Given the description of an element on the screen output the (x, y) to click on. 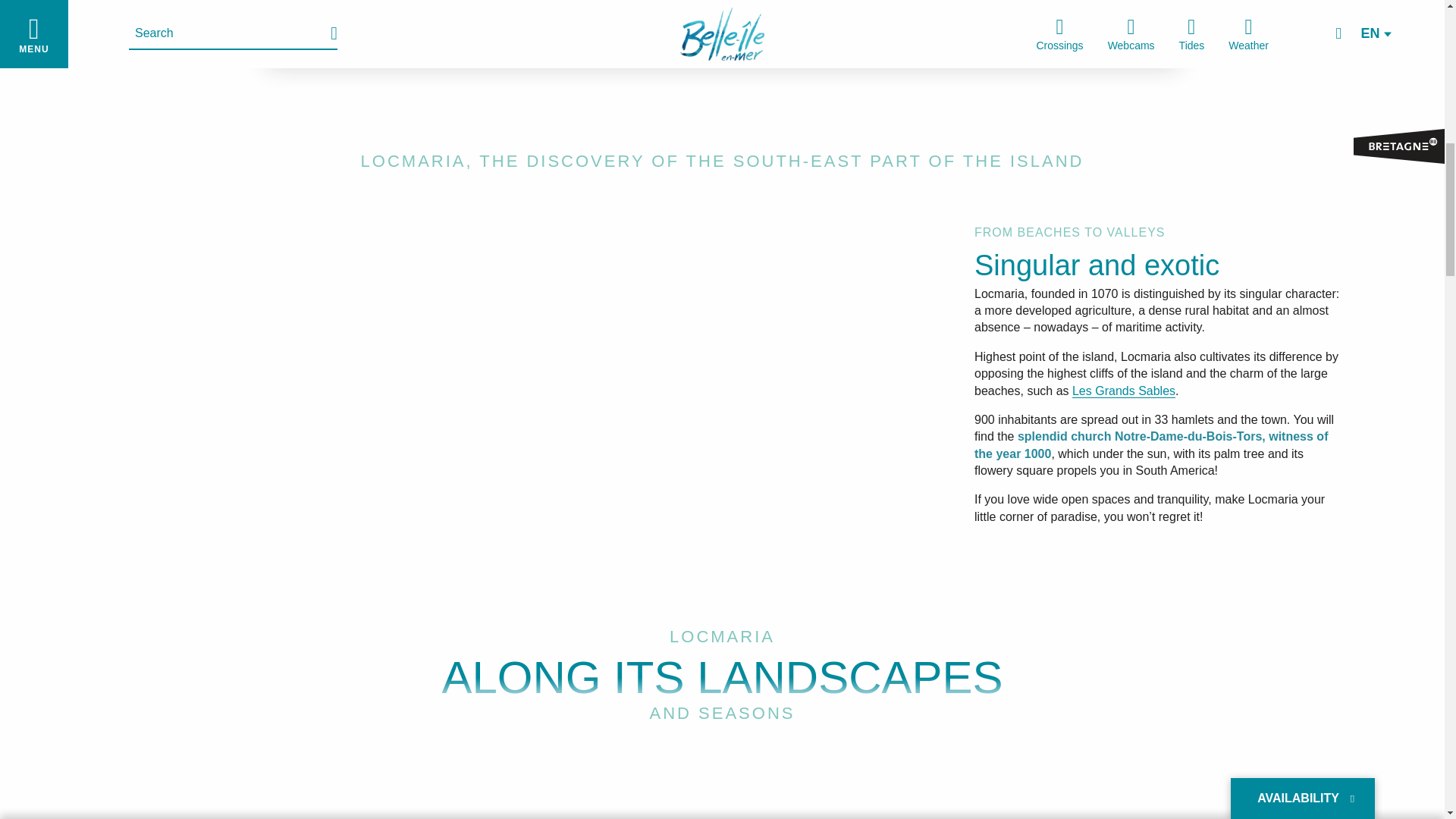
Share on Facebook (658, 5)
Les Grands Sables (1122, 391)
Share on Pinterest (718, 5)
Share on Twitter (689, 5)
Share by email (749, 5)
